Given the description of an element on the screen output the (x, y) to click on. 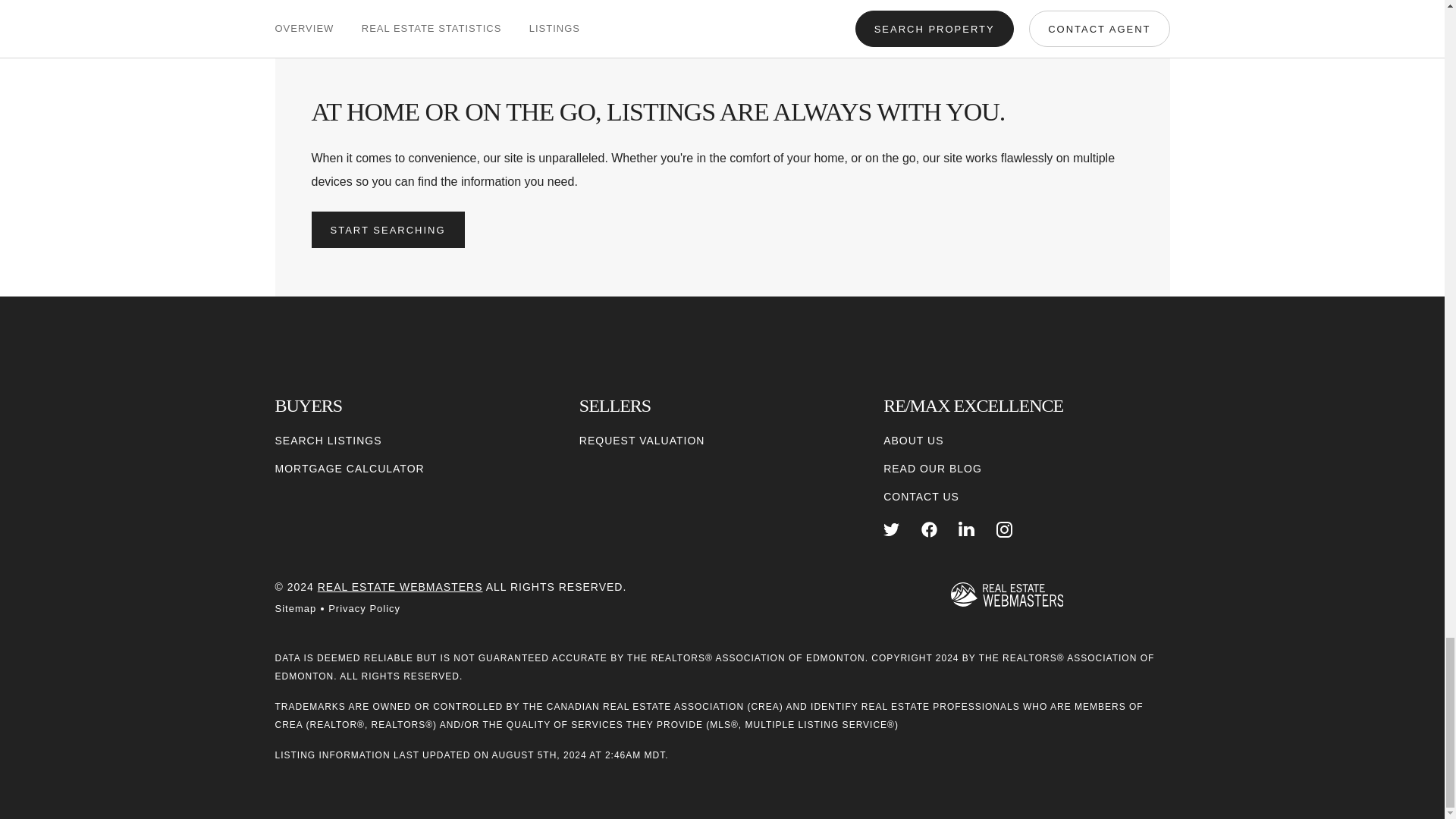
TWITTER (891, 529)
LINKEDIN (966, 529)
FACEBOOK (929, 529)
